Given the description of an element on the screen output the (x, y) to click on. 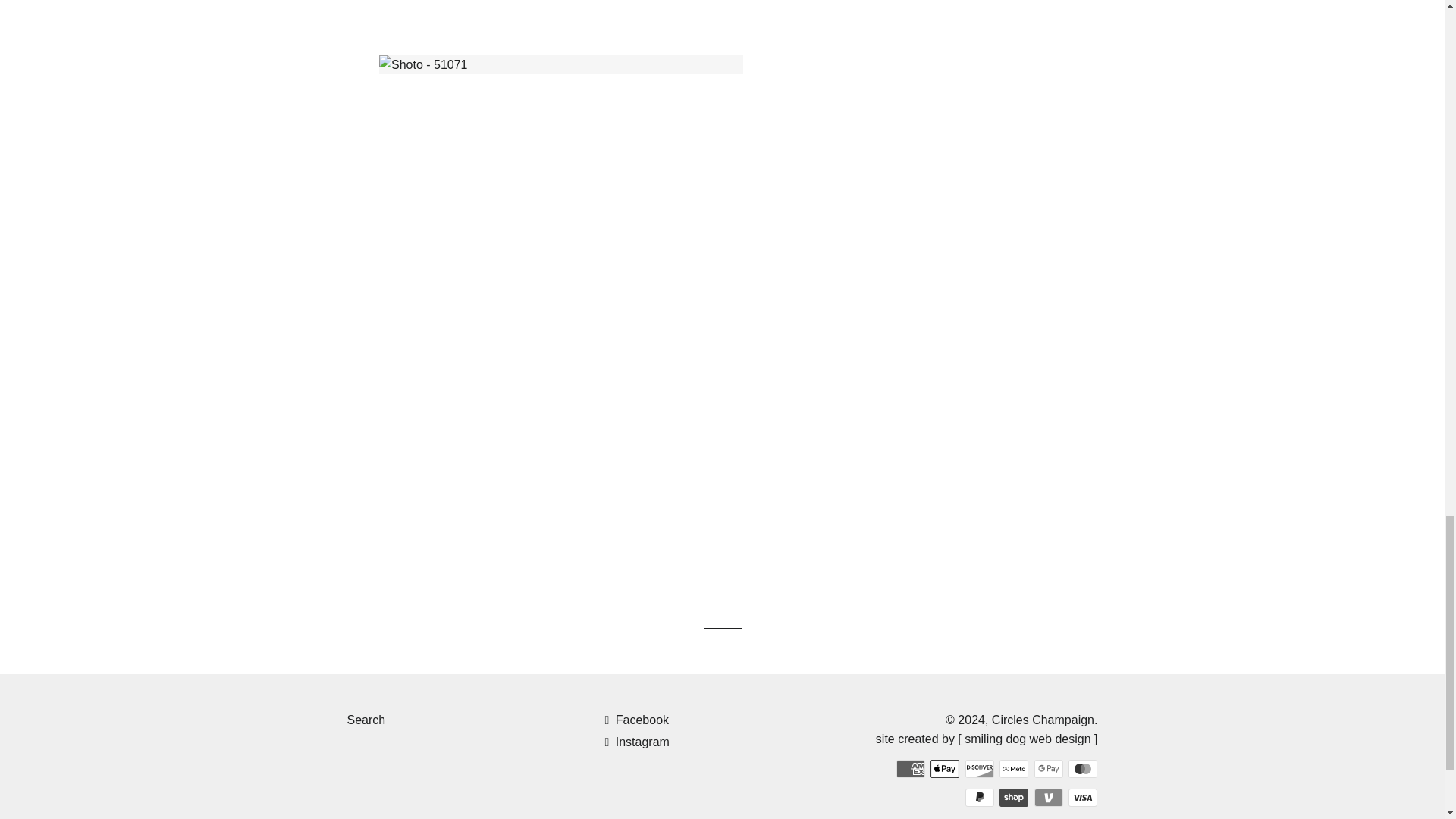
Apple Pay (944, 769)
Mastercard (1082, 769)
Google Pay (1047, 769)
Venmo (1047, 797)
Circles Champaign on Facebook (636, 719)
PayPal (979, 797)
American Express (910, 769)
Meta Pay (1012, 769)
Discover (979, 769)
Shop Pay (1012, 797)
